Given the description of an element on the screen output the (x, y) to click on. 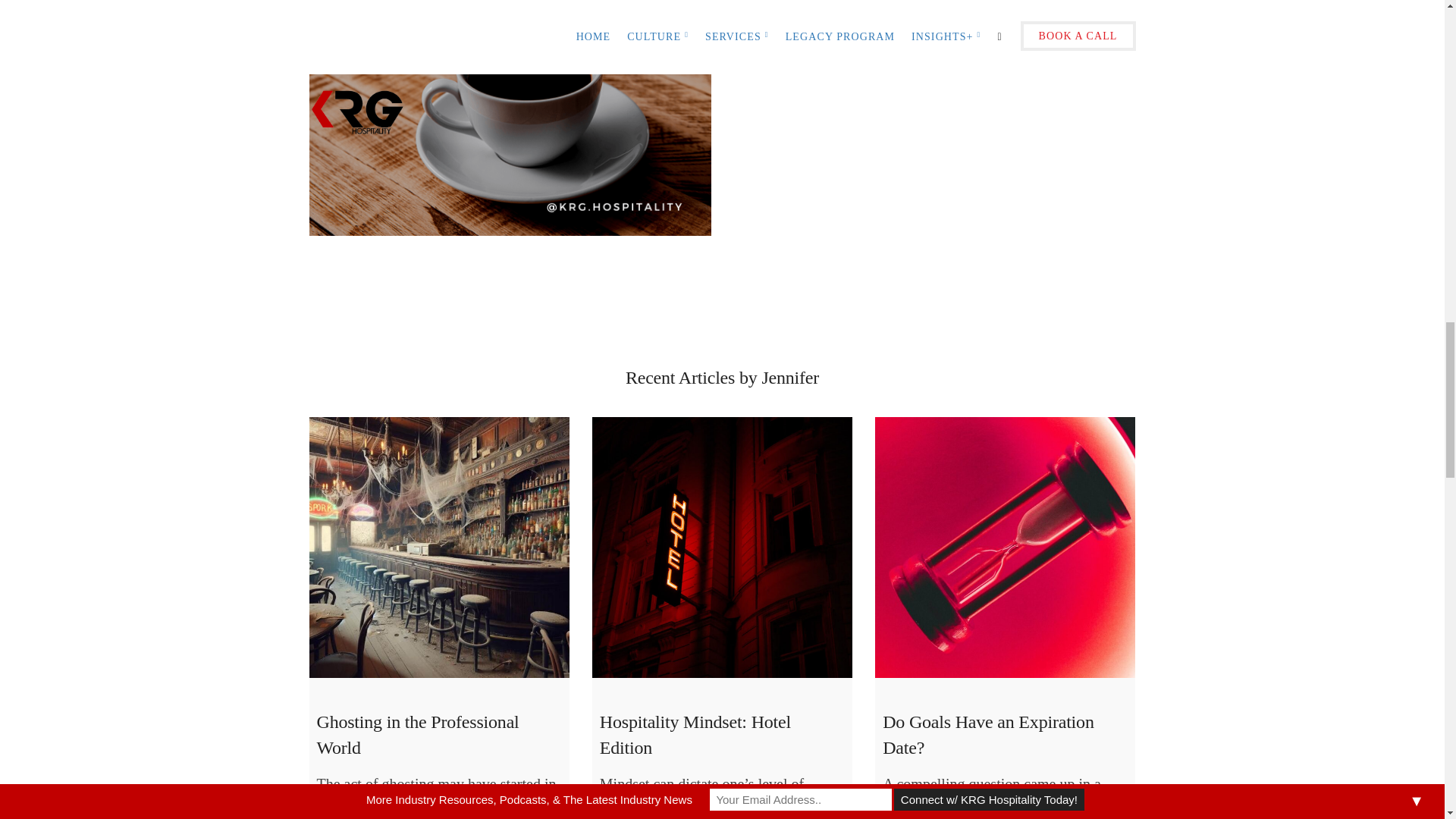
Hospitality Mindset: Hotel Edition (721, 546)
Do Goals Have an Expiration Date? (1005, 546)
Ghosting in the Professional World (438, 546)
